Given the description of an element on the screen output the (x, y) to click on. 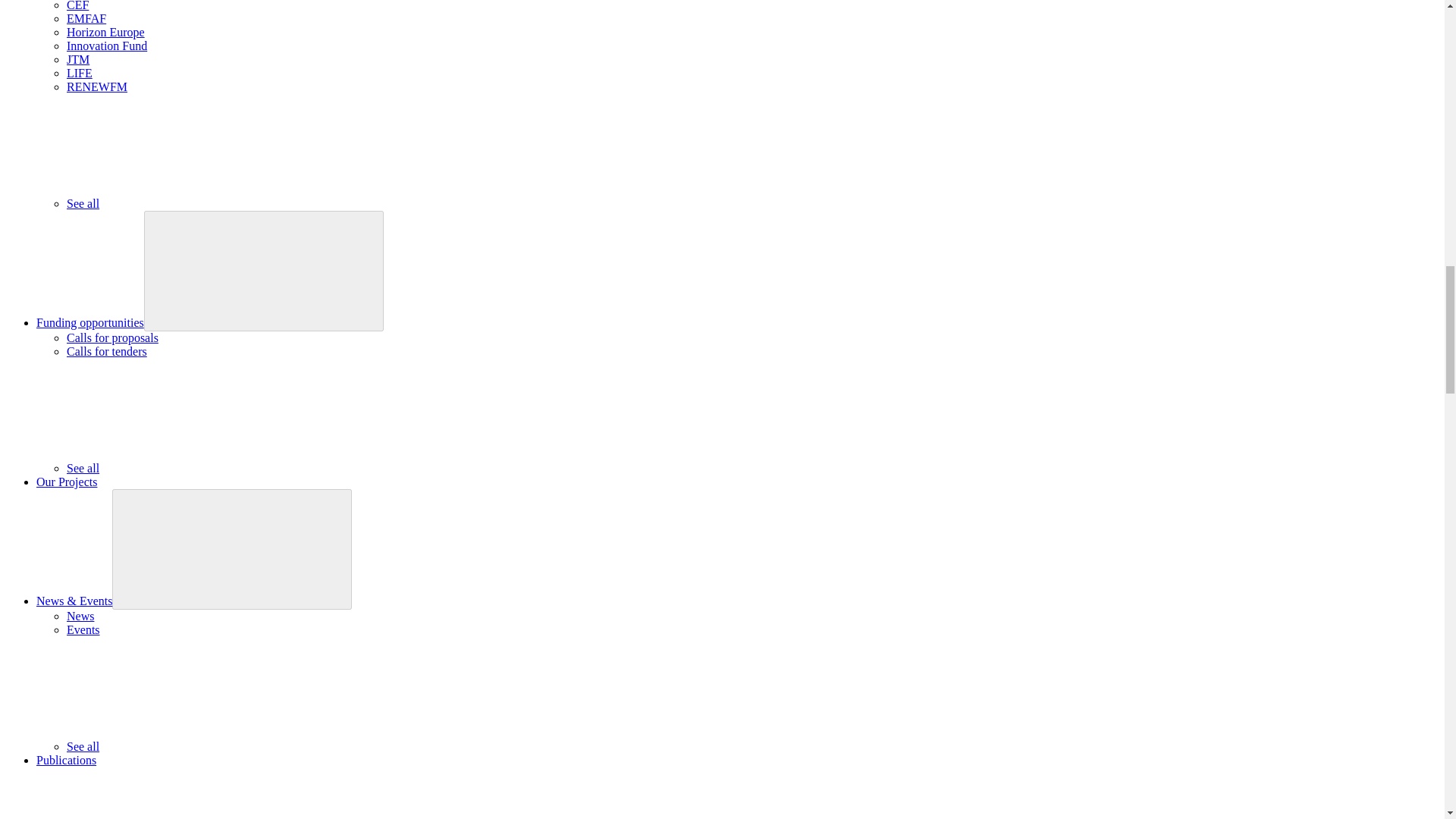
EMFAF (86, 18)
Calls for proposals (112, 337)
Our Projects (66, 481)
Calls for tenders (106, 350)
Horizon Europe (105, 31)
See all (196, 468)
Funding opportunities (90, 322)
See all (196, 203)
LIFE (79, 72)
Innovation Fund (106, 45)
JTM (77, 59)
CEF (77, 5)
RENEWFM (97, 86)
News (80, 615)
